Given the description of an element on the screen output the (x, y) to click on. 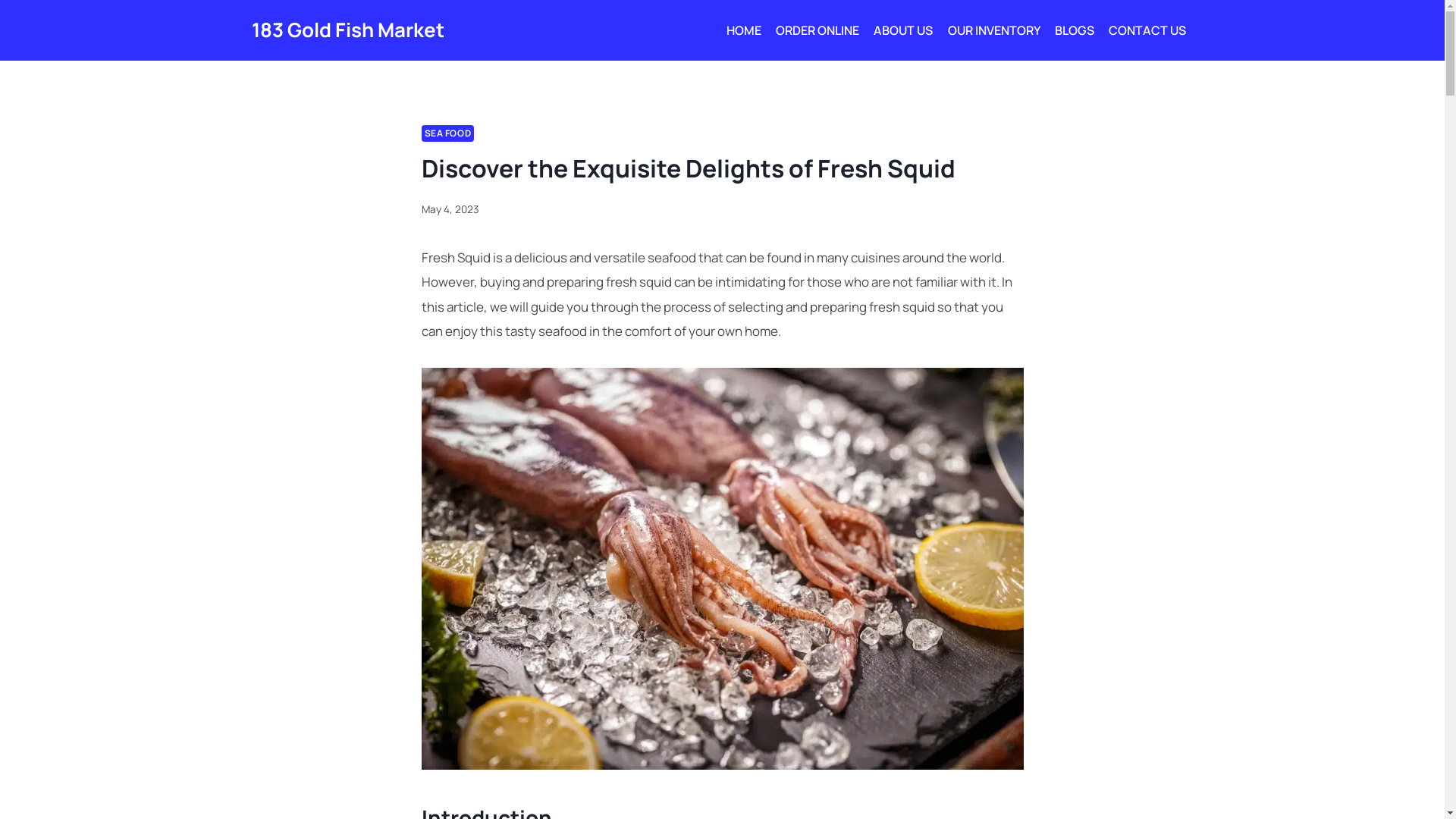
CONTACT US Element type: text (1146, 29)
HOME Element type: text (743, 29)
BLOGS Element type: text (1074, 29)
ORDER ONLINE Element type: text (817, 29)
183 Gold Fish Market Element type: text (347, 29)
ABOUT US Element type: text (903, 29)
SEA FOOD Element type: text (447, 133)
OUR INVENTORY Element type: text (993, 29)
